Given the description of an element on the screen output the (x, y) to click on. 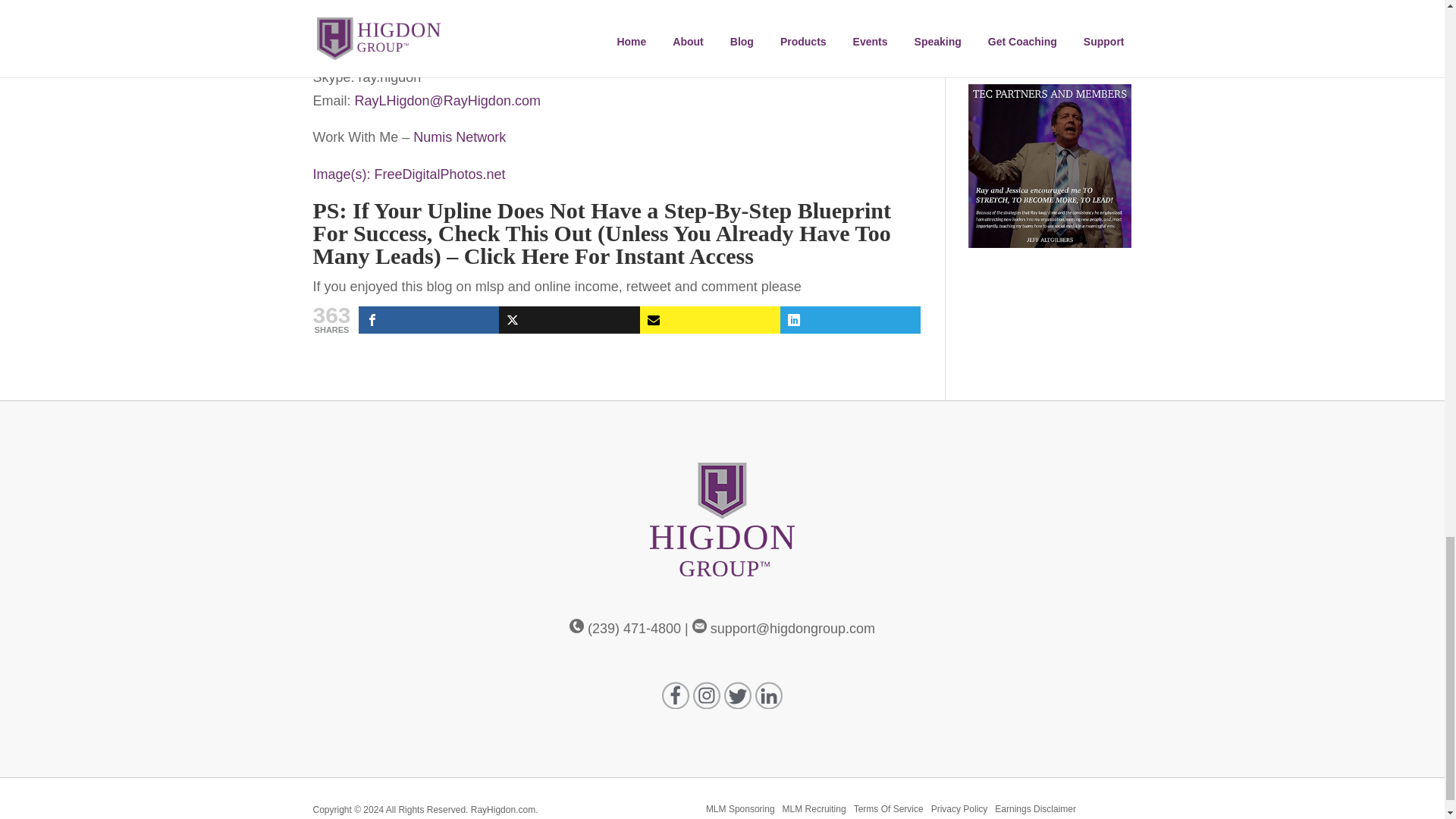
higdon-group-footer-logo (721, 519)
rayface (369, 14)
